Given the description of an element on the screen output the (x, y) to click on. 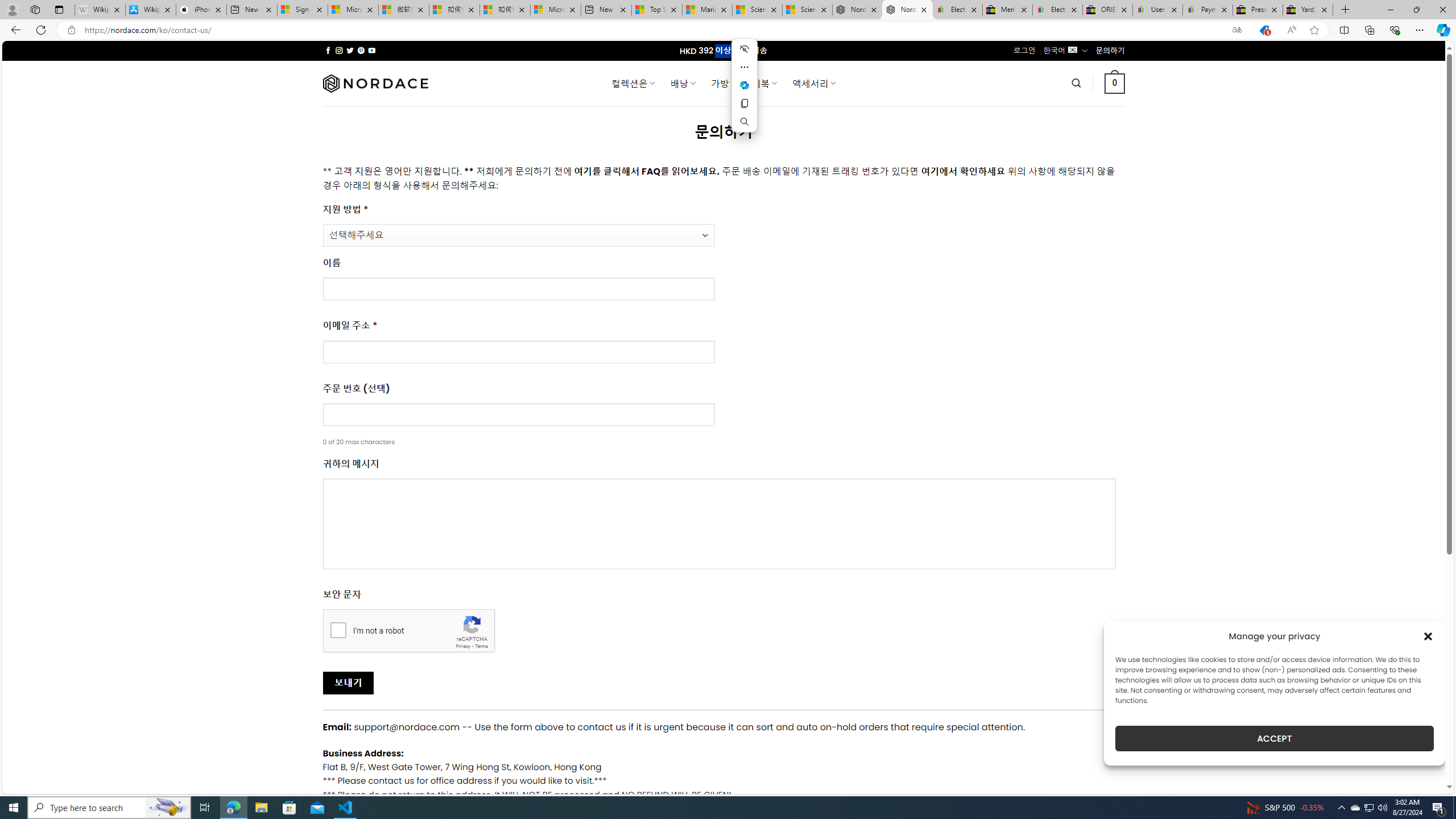
Close tab (1324, 9)
Settings and more (Alt+F) (1419, 29)
Privacy (462, 646)
Payments Terms of Use | eBay.com (1207, 9)
Wikipedia - Sleeping (99, 9)
